Given the description of an element on the screen output the (x, y) to click on. 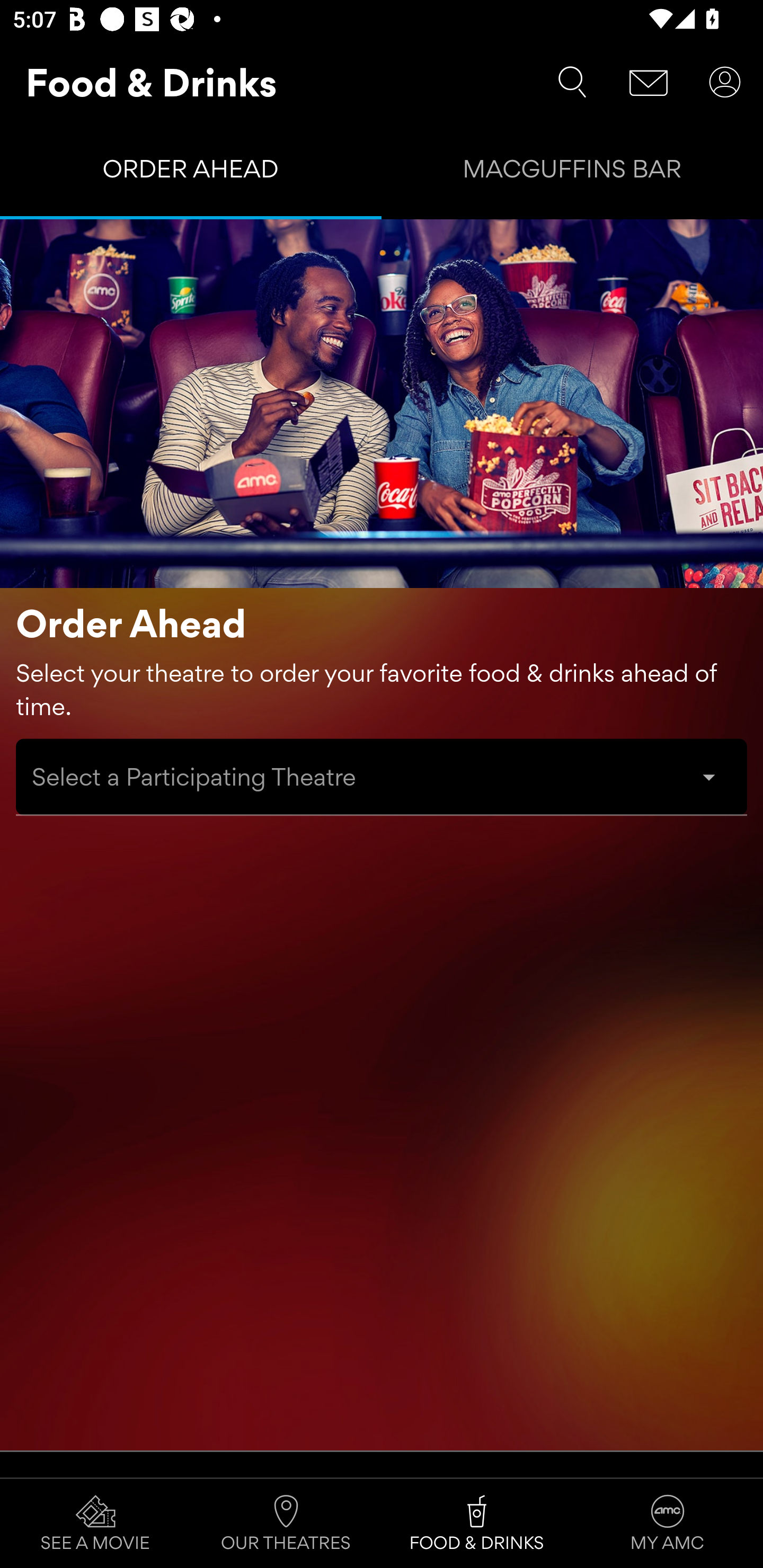
Search (572, 82)
Message Center (648, 82)
User Account (724, 82)
ORDER AHEAD
Tab 1 of 2 (190, 173)
MACGUFFINS BAR
Tab 2 of 2 (572, 173)
SEE A MOVIE
Tab 1 of 4 (95, 1523)
OUR THEATRES
Tab 2 of 4 (285, 1523)
FOOD & DRINKS
Tab 3 of 4 (476, 1523)
MY AMC
Tab 4 of 4 (667, 1523)
